Given the description of an element on the screen output the (x, y) to click on. 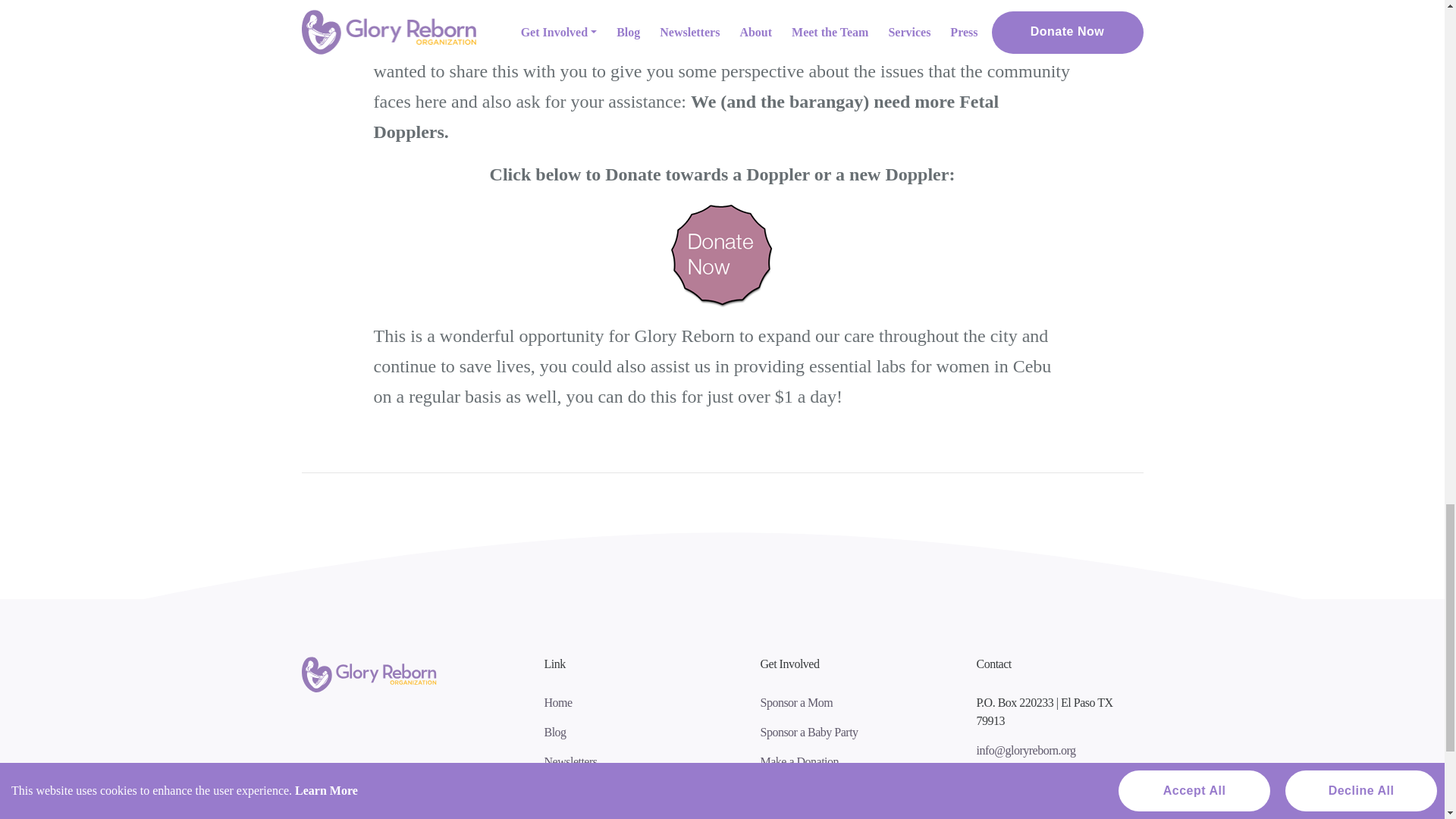
Blog (555, 731)
Meet the Team (577, 816)
Subscribe (782, 816)
Home (558, 702)
Sponsor a Baby Party (808, 731)
Giving Tuesday (795, 790)
About (558, 790)
Newsletters (570, 761)
Make a Donation (799, 761)
Sponsor a Mom (796, 702)
